Given the description of an element on the screen output the (x, y) to click on. 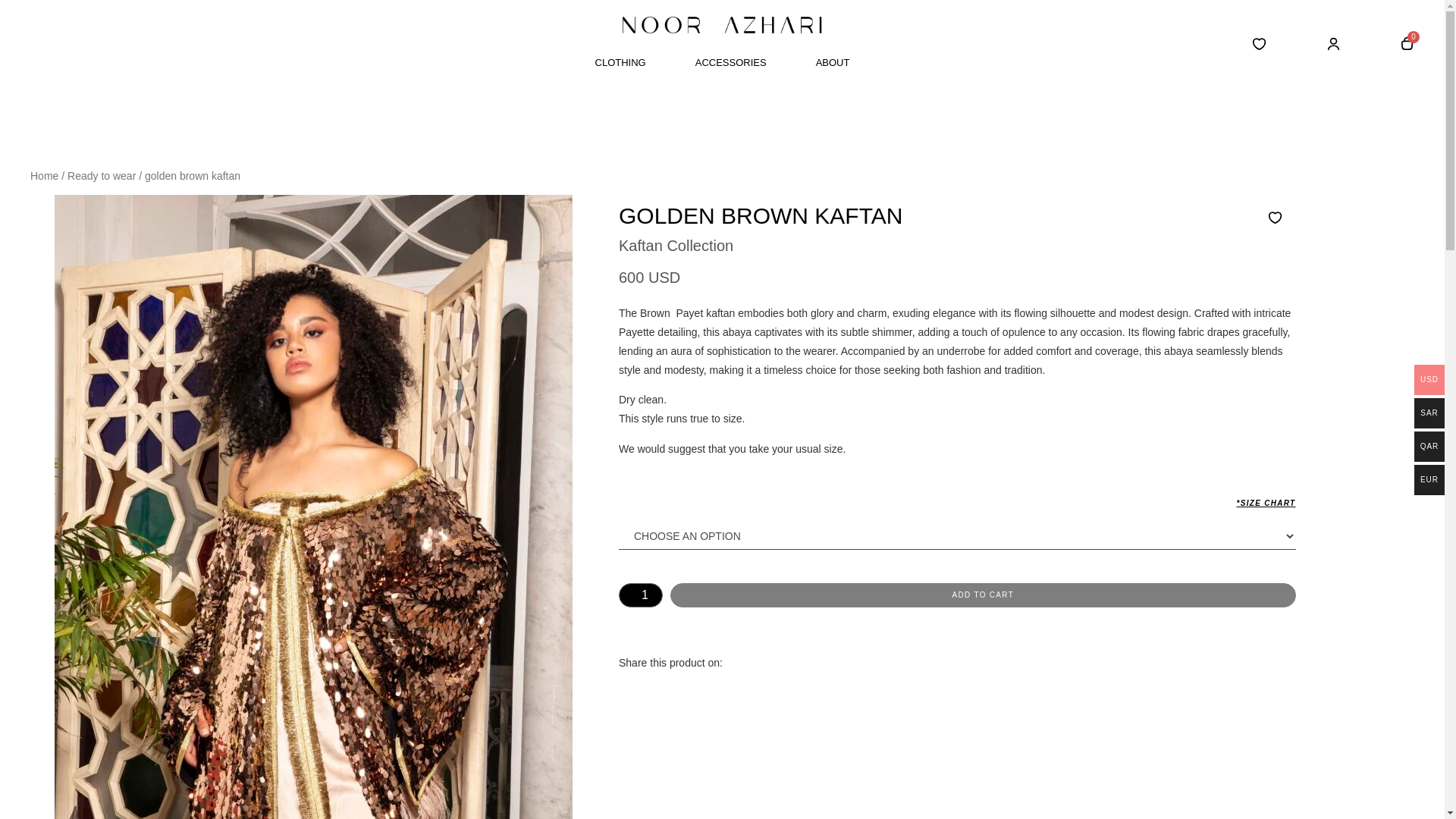
ACCESSORIES (731, 62)
1 (640, 595)
ABOUT (832, 62)
0 (1406, 44)
CLOTHING (620, 62)
